Given the description of an element on the screen output the (x, y) to click on. 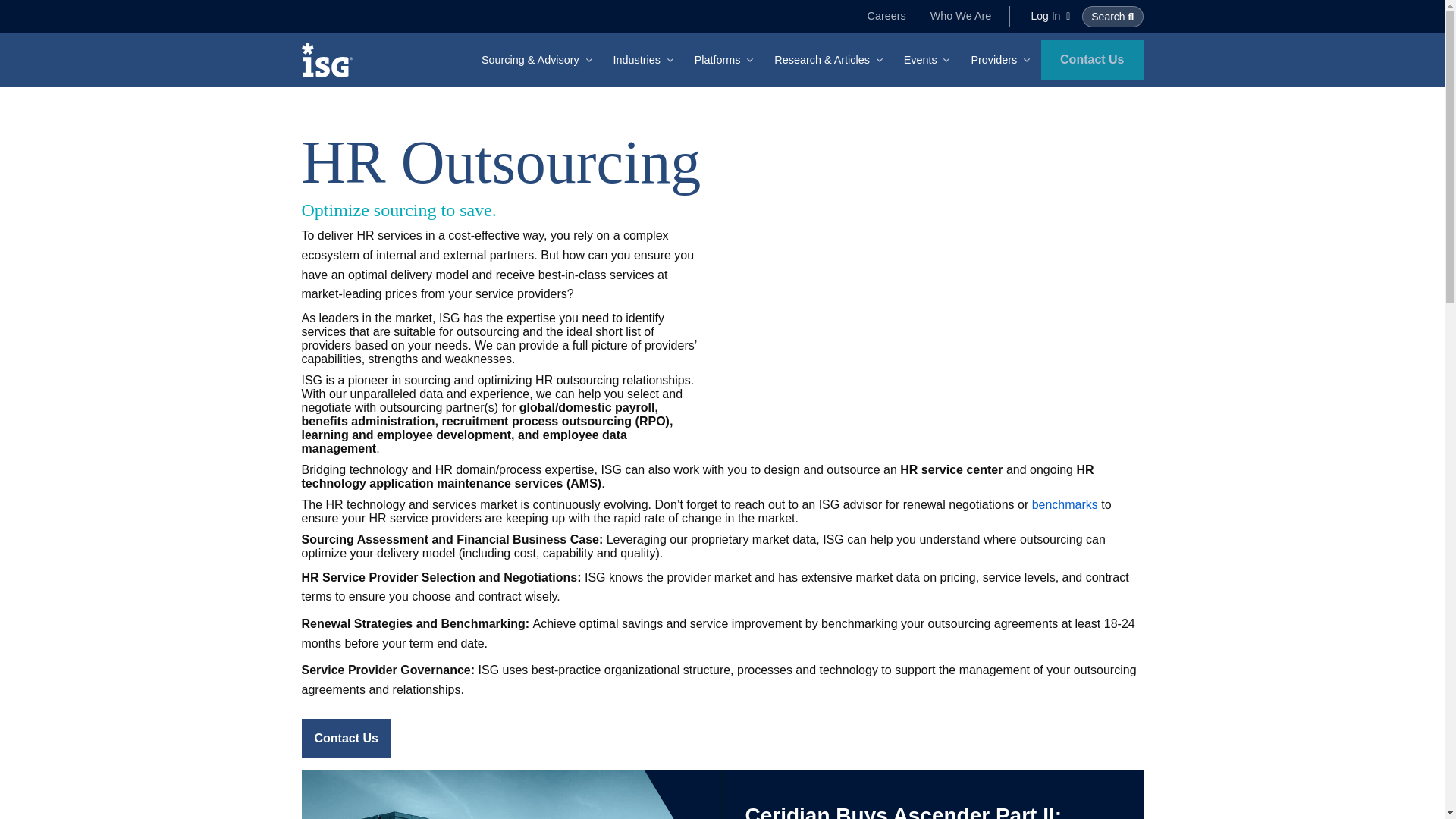
Search (1111, 16)
Industries (644, 59)
Careers (887, 16)
Who We Are (961, 16)
ISG (331, 59)
Log In (1050, 15)
